Given the description of an element on the screen output the (x, y) to click on. 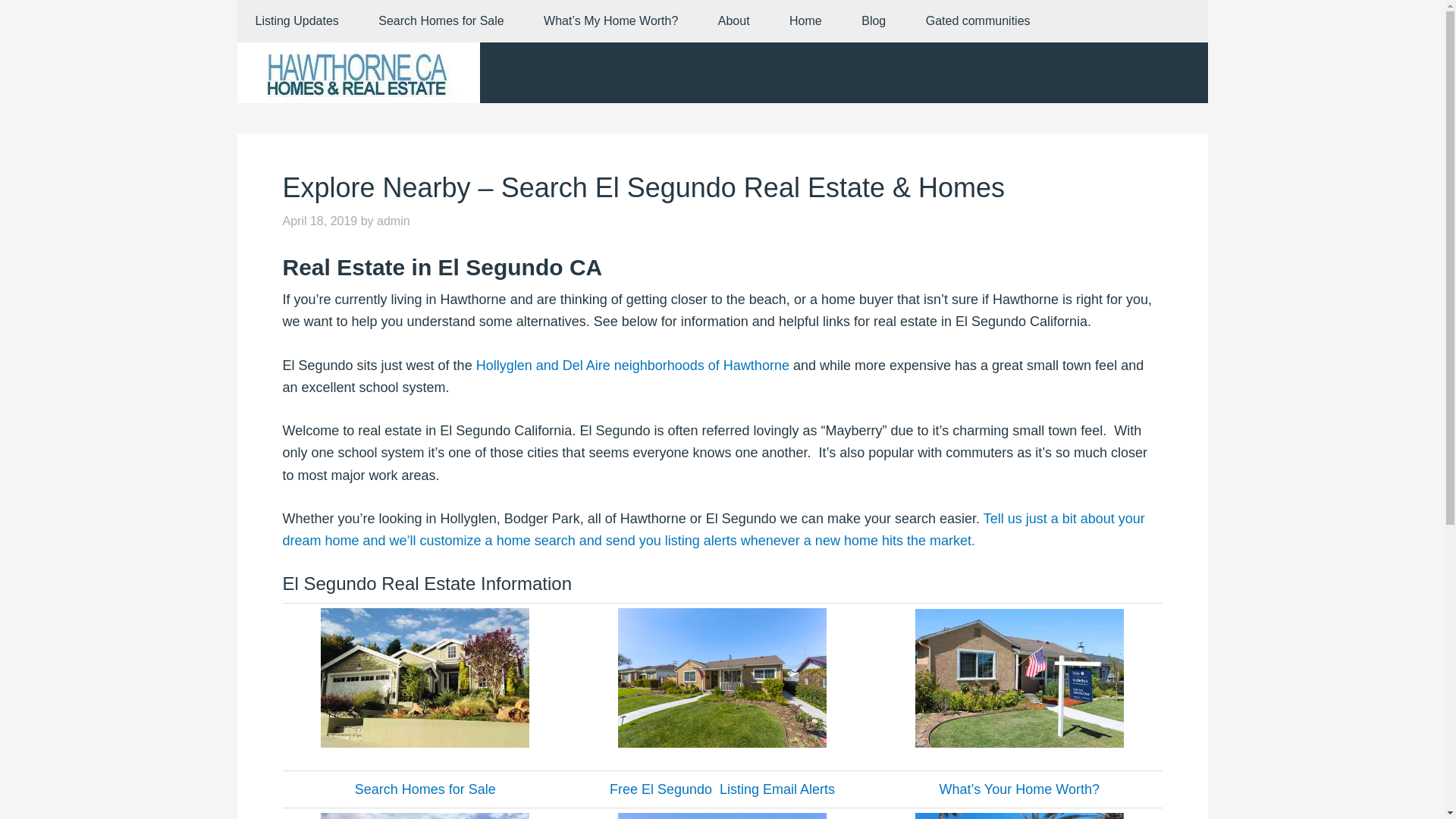
Hawthorne Real Estate and homes for sale (357, 72)
Home (805, 21)
Listing Updates (295, 21)
Blog (873, 21)
About (734, 21)
Gated communities (977, 21)
Search Homes for Sale (440, 21)
